Given the description of an element on the screen output the (x, y) to click on. 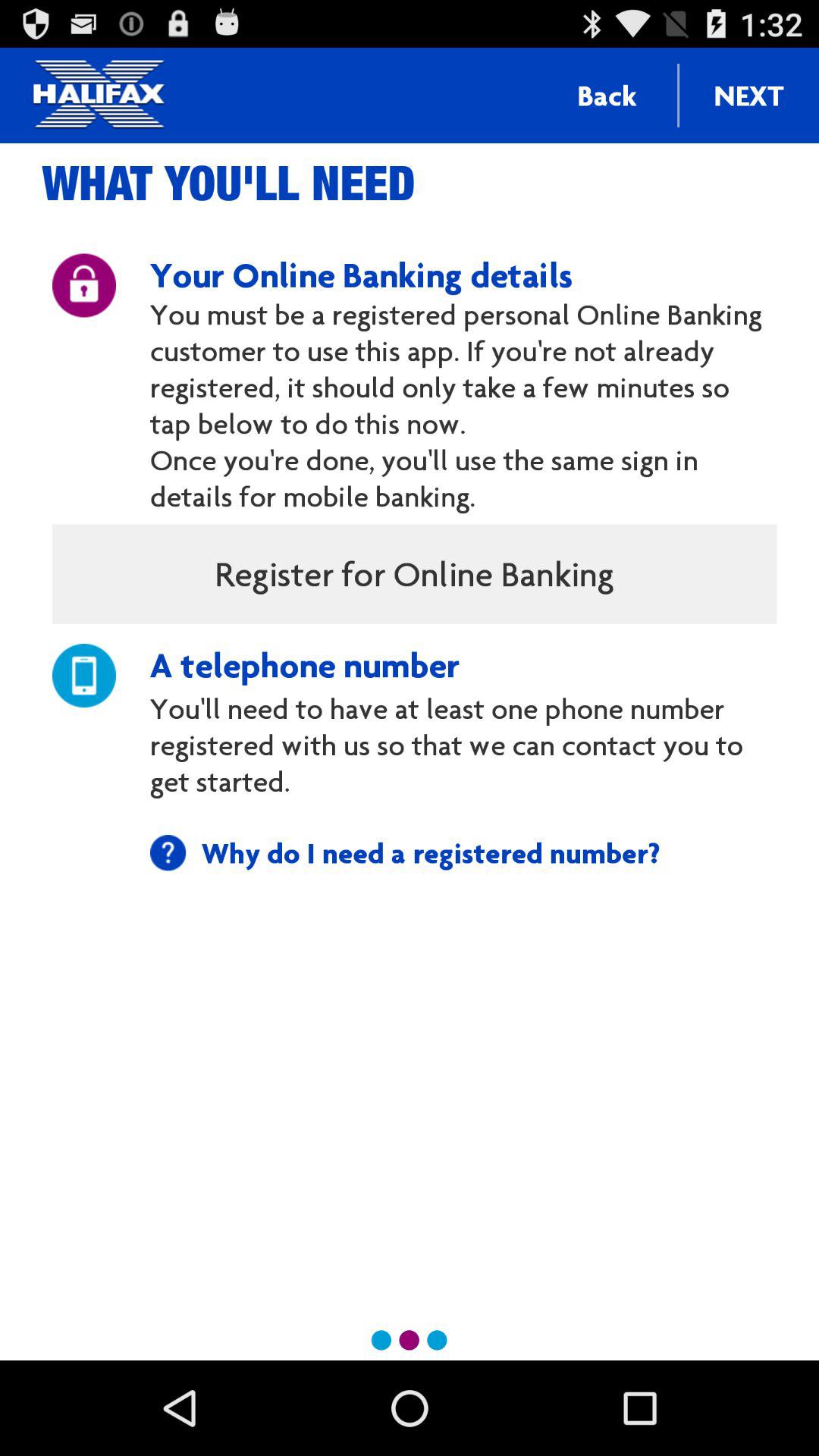
click on the icon left to the text a telephone number (84, 675)
